Given the description of an element on the screen output the (x, y) to click on. 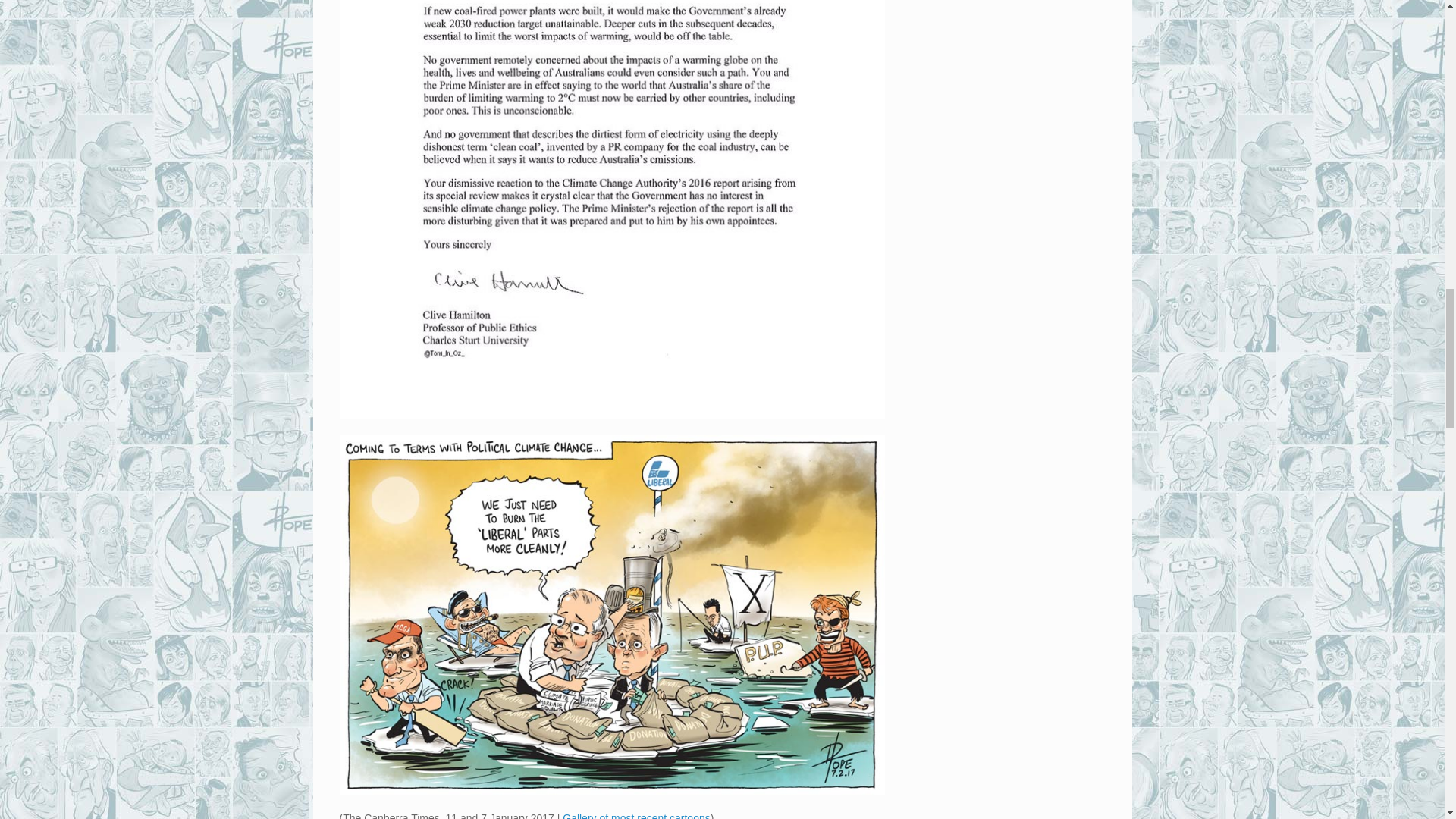
Gallery of most recent cartoons (636, 815)
